Given the description of an element on the screen output the (x, y) to click on. 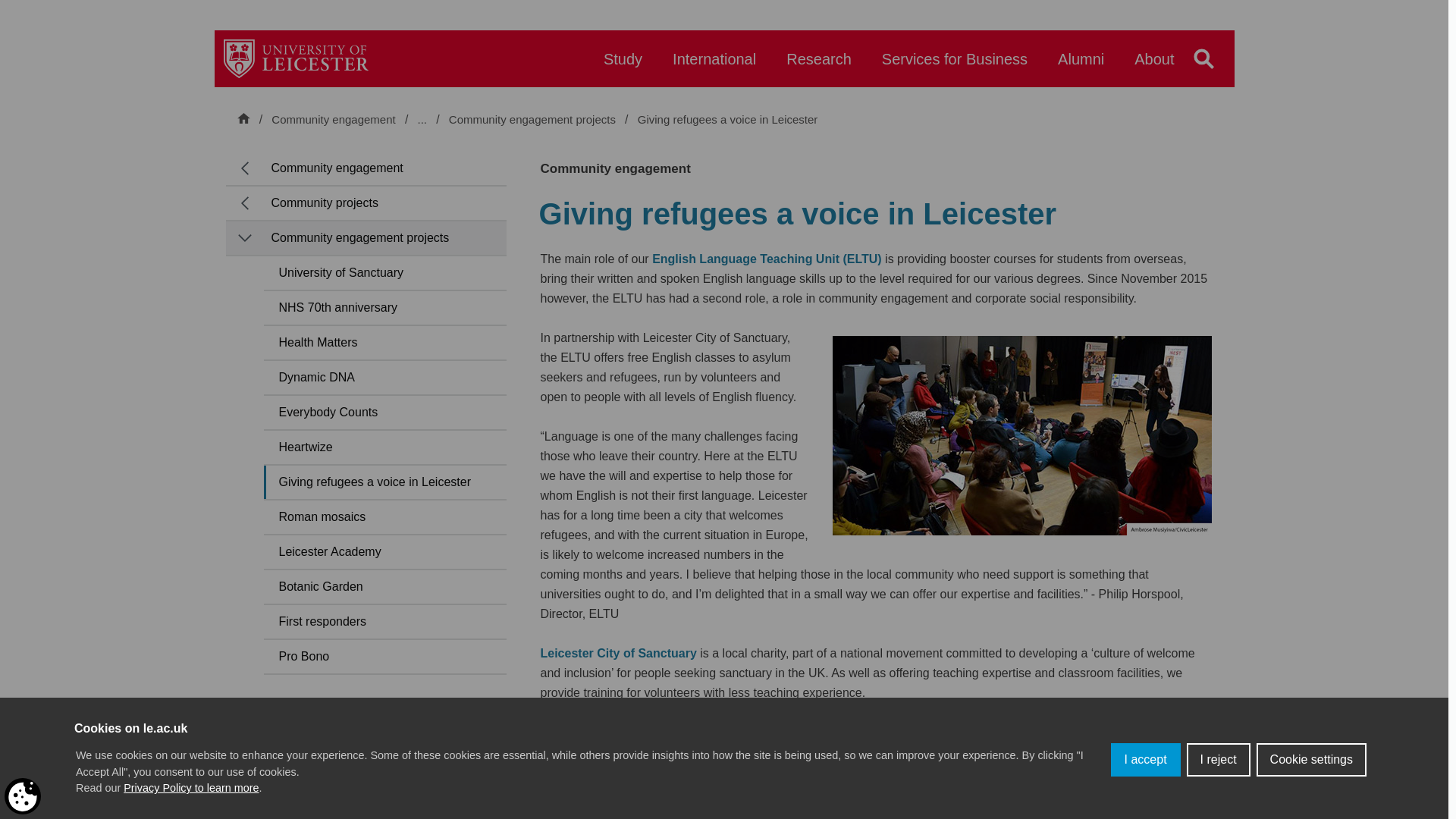
Privacy Policy to learn more (191, 787)
Return to homepage (295, 58)
Community engagement projects (533, 119)
Giving refugees a voice in Leicester (727, 119)
I accept (1145, 759)
Community projects (499, 119)
Community engagement (332, 119)
Study (623, 65)
Cookie settings (1311, 759)
I reject (1218, 759)
